Given the description of an element on the screen output the (x, y) to click on. 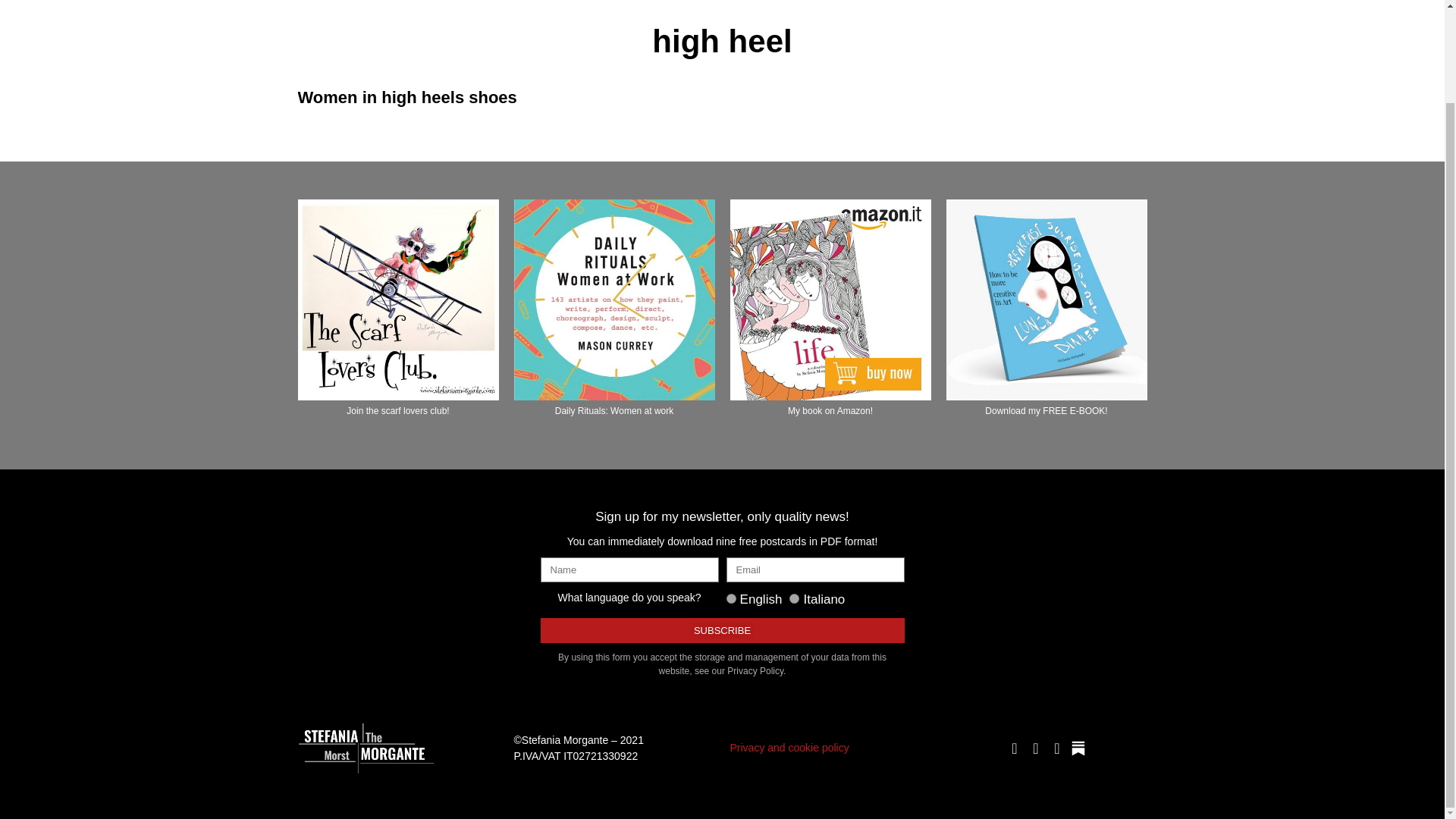
the scarf lovers club (397, 299)
IT (794, 598)
How to be more creative in Art free download (1046, 299)
Masoncurrey (613, 299)
EN (731, 598)
My book on Amazon (829, 299)
